Given the description of an element on the screen output the (x, y) to click on. 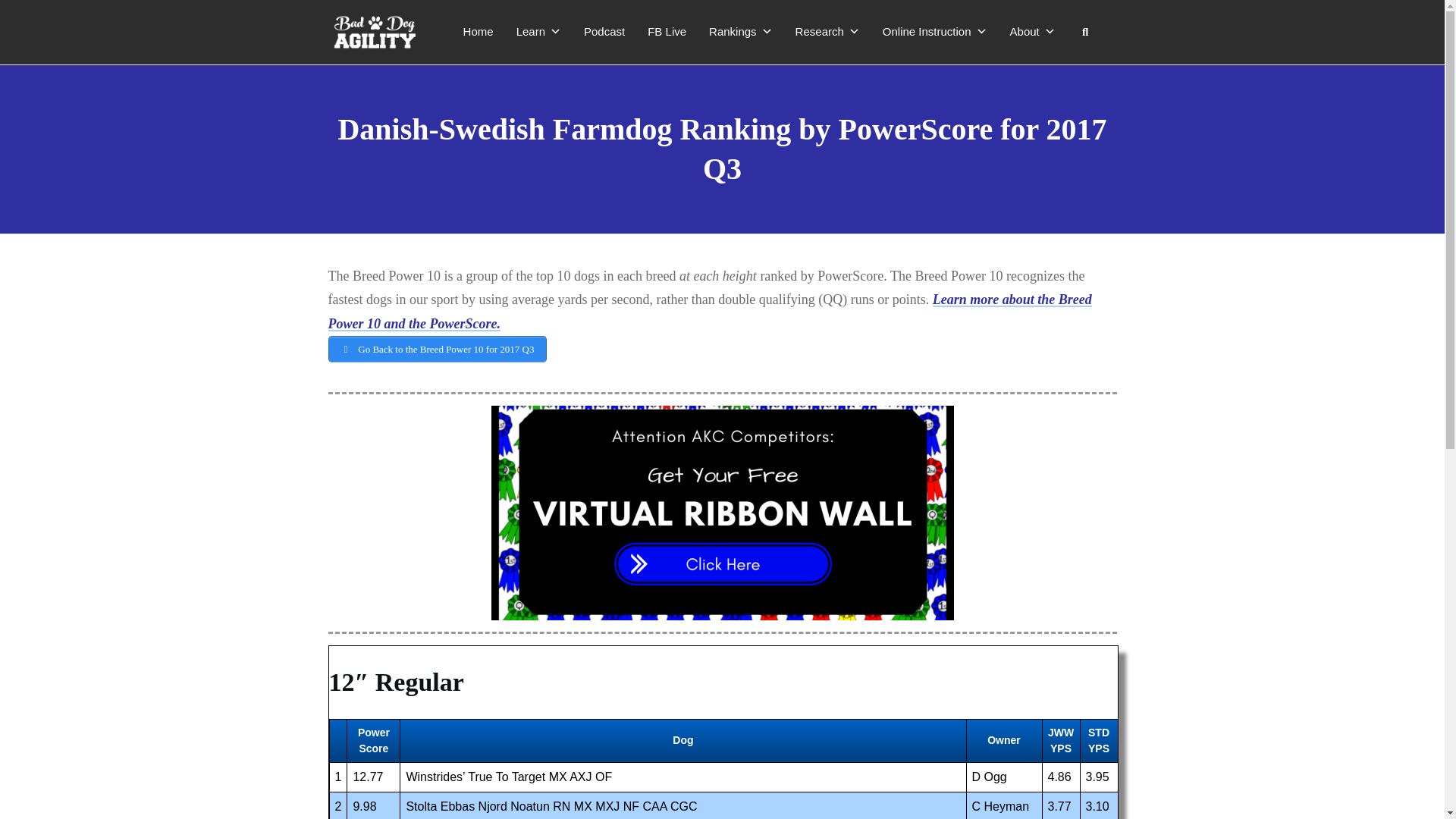
Home (478, 31)
Online Instruction (935, 31)
About (1032, 31)
Podcast (603, 31)
Research (827, 31)
Learn (538, 31)
Rankings (740, 31)
FB Live (666, 31)
